Given the description of an element on the screen output the (x, y) to click on. 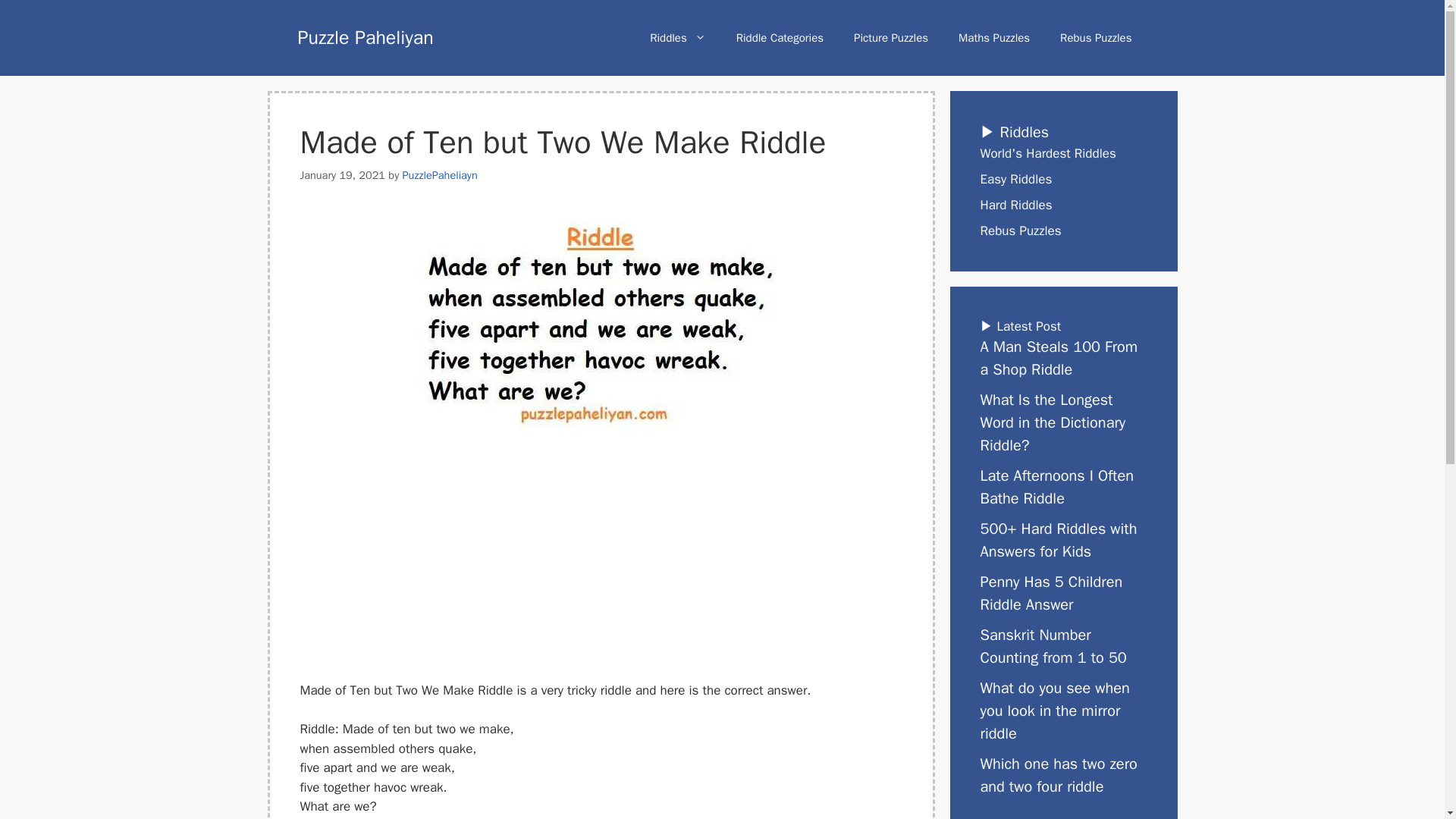
PuzzlePaheliayn (440, 174)
Advertisement (600, 568)
Rebus Puzzles (1096, 37)
Puzzle Paheliyan (364, 37)
Picture Puzzles (890, 37)
Riddles (677, 37)
Maths Puzzles (994, 37)
Riddle Categories (779, 37)
World's Hardest Riddles (1047, 153)
View all posts by PuzzlePaheliayn (440, 174)
